Given the description of an element on the screen output the (x, y) to click on. 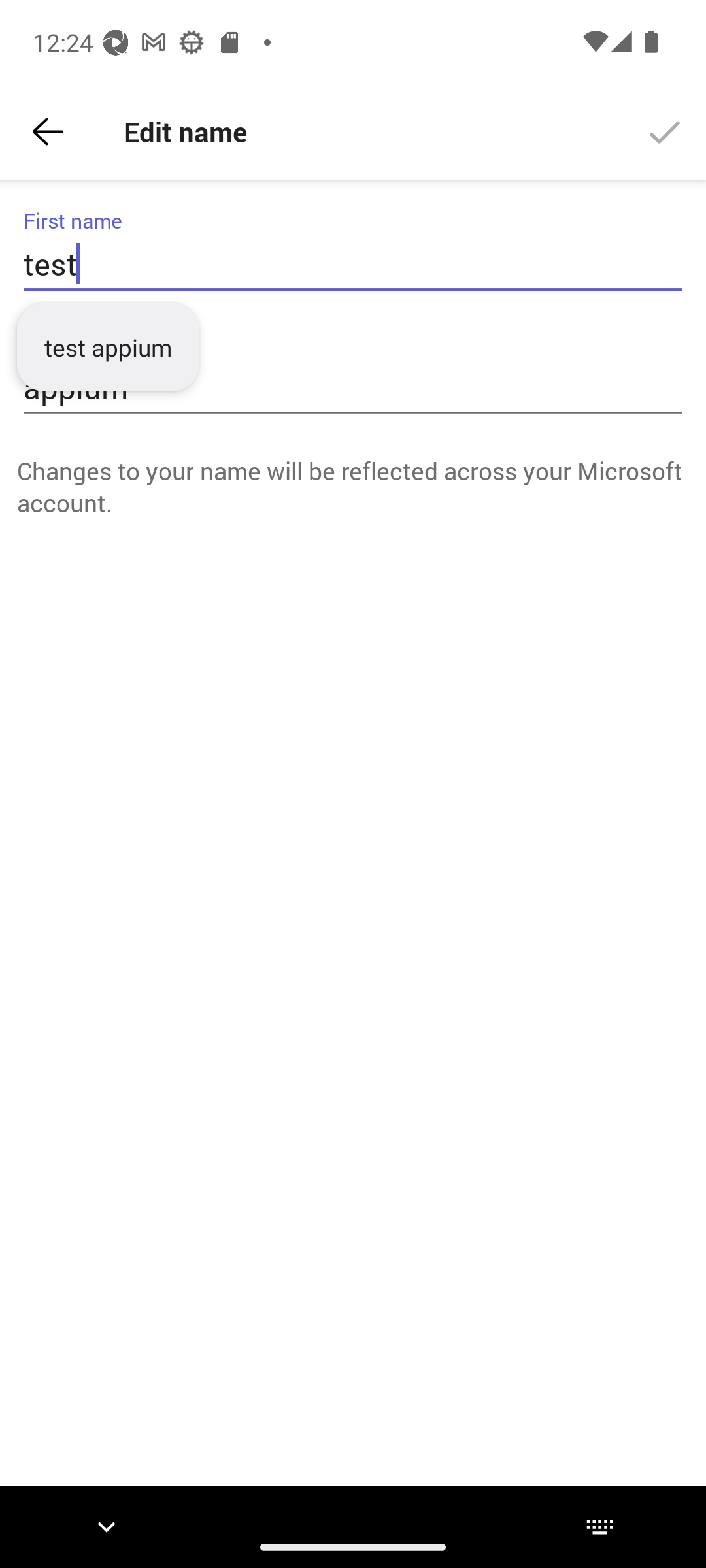
test appium (107, 347)
